Given the description of an element on the screen output the (x, y) to click on. 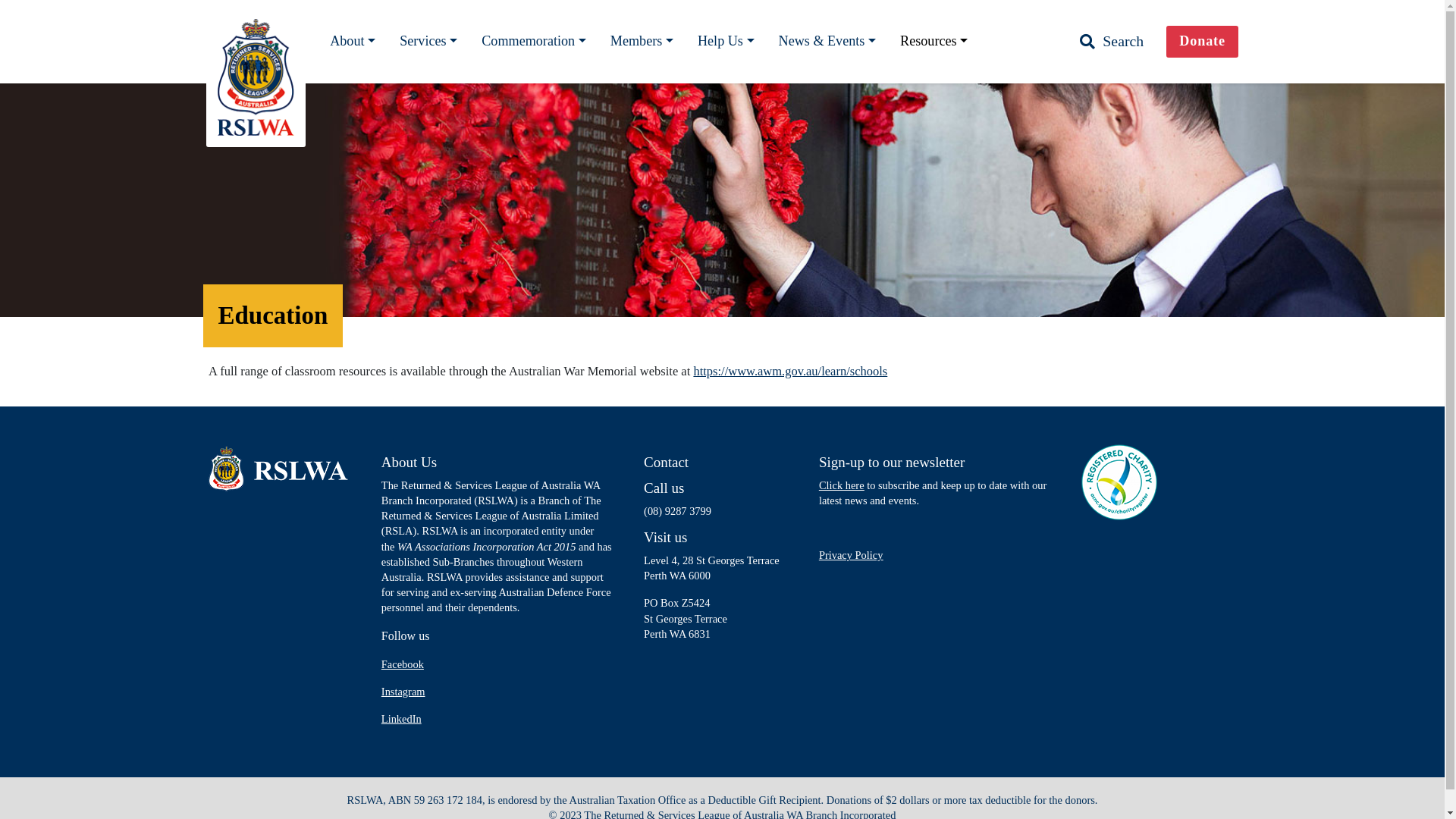
https://www.awm.gov.au/learn/schools Element type: text (790, 371)
Services Element type: text (428, 41)
Members Element type: text (641, 41)
About Element type: text (352, 41)
Instagram Element type: text (403, 691)
Commemoration Element type: text (533, 41)
Privacy Policy Element type: text (851, 555)
Help Us Element type: text (725, 41)
News & Events Element type: text (827, 41)
Donate Element type: text (1202, 40)
Click here Element type: text (841, 485)
LinkedIn Element type: text (401, 718)
Facebook Element type: text (402, 664)
Resources Element type: text (933, 41)
